Given the description of an element on the screen output the (x, y) to click on. 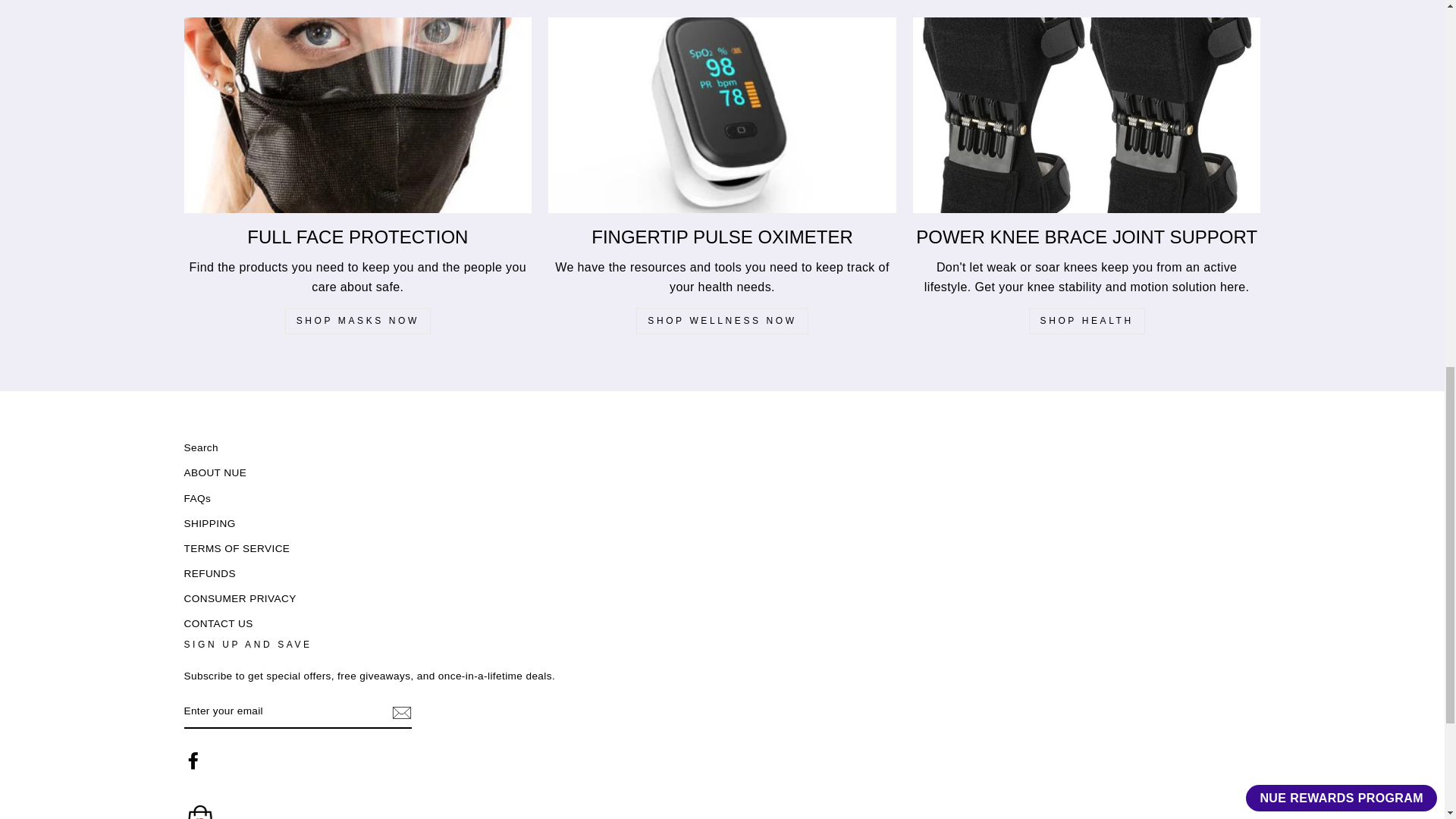
NUE on Facebook (192, 760)
